Given the description of an element on the screen output the (x, y) to click on. 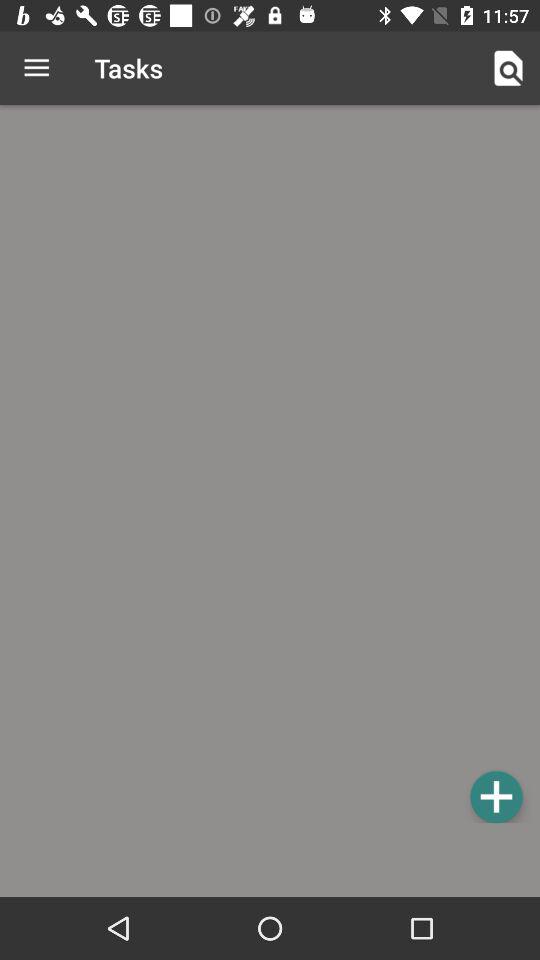
turn off the item at the bottom right corner (496, 796)
